Given the description of an element on the screen output the (x, y) to click on. 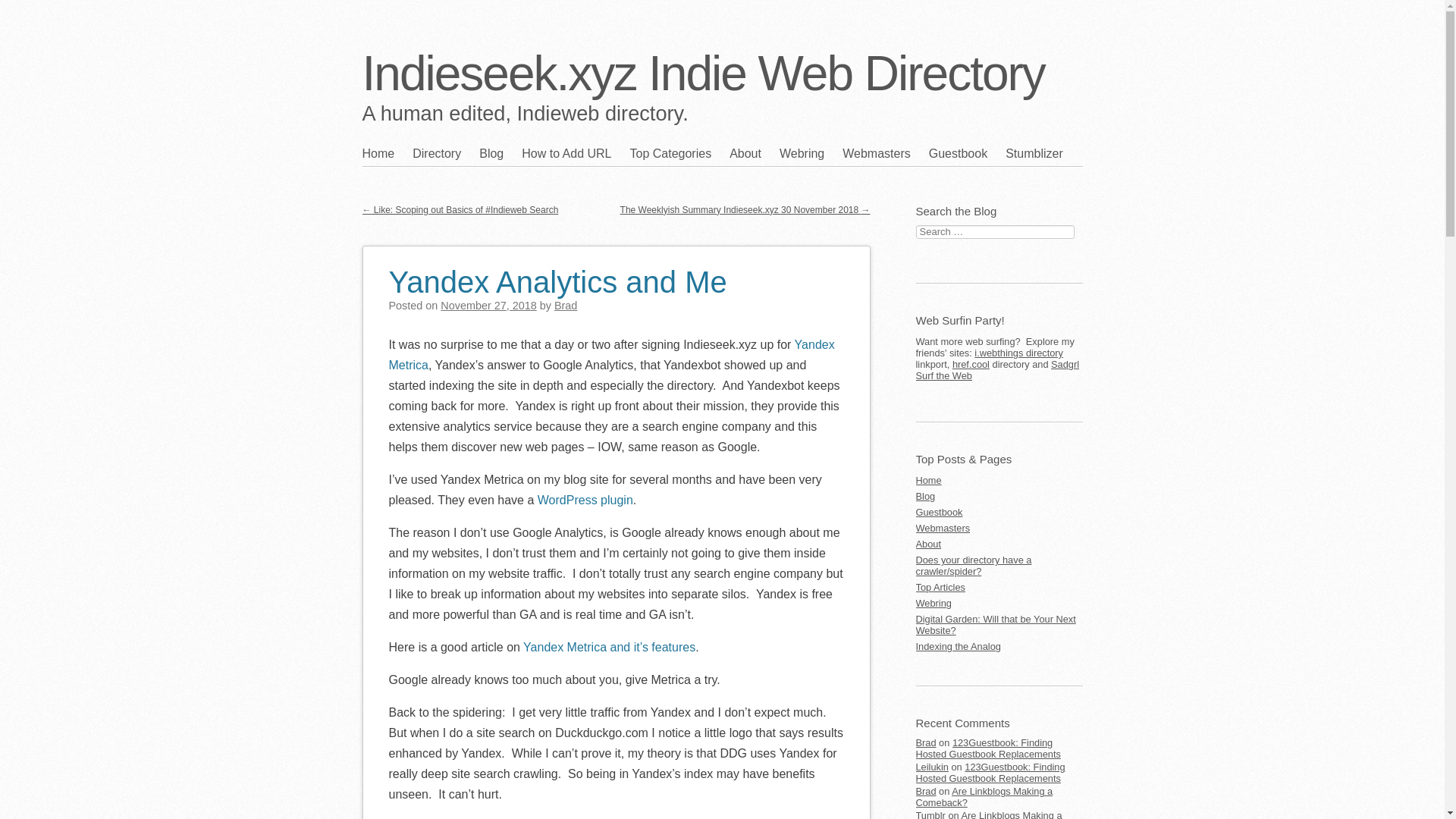
Indieseek.xyz Indie Web Directory (703, 72)
Guestbook (967, 153)
View all posts by Brad (565, 305)
Yandex Metrica (611, 354)
Directory (445, 153)
Webmasters (885, 153)
Top Categories (680, 153)
WordPress plugin (585, 499)
Webring (810, 153)
November 27, 2018 (488, 305)
Yandex Analytics and Me (557, 272)
How to Add URL (574, 153)
9:03 AM (488, 305)
